Given the description of an element on the screen output the (x, y) to click on. 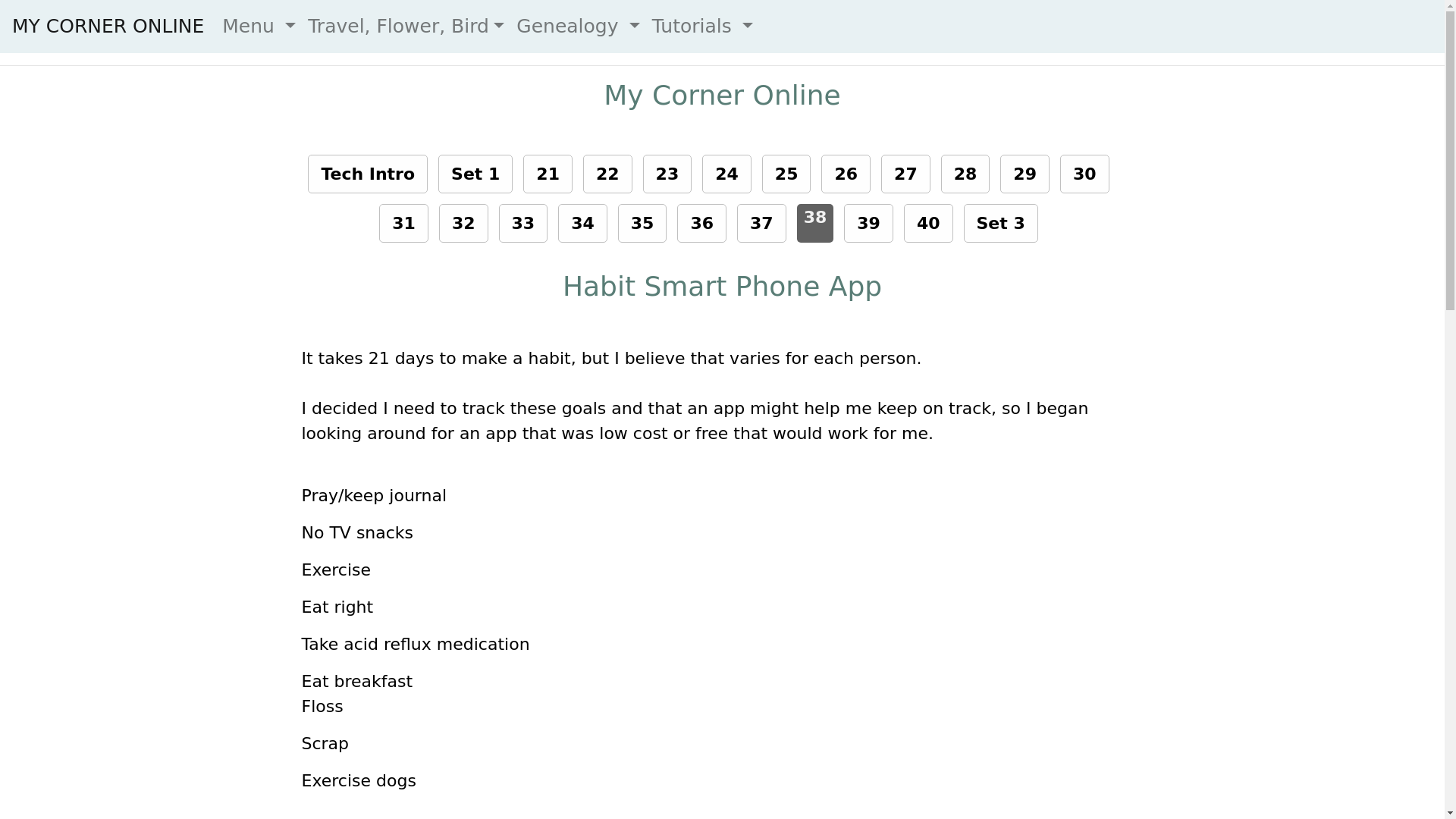
Tutorials (702, 25)
Menu (258, 25)
Genealogy (578, 25)
MY CORNER ONLINE (107, 26)
Travel, Flower, Bird (406, 25)
